Given the description of an element on the screen output the (x, y) to click on. 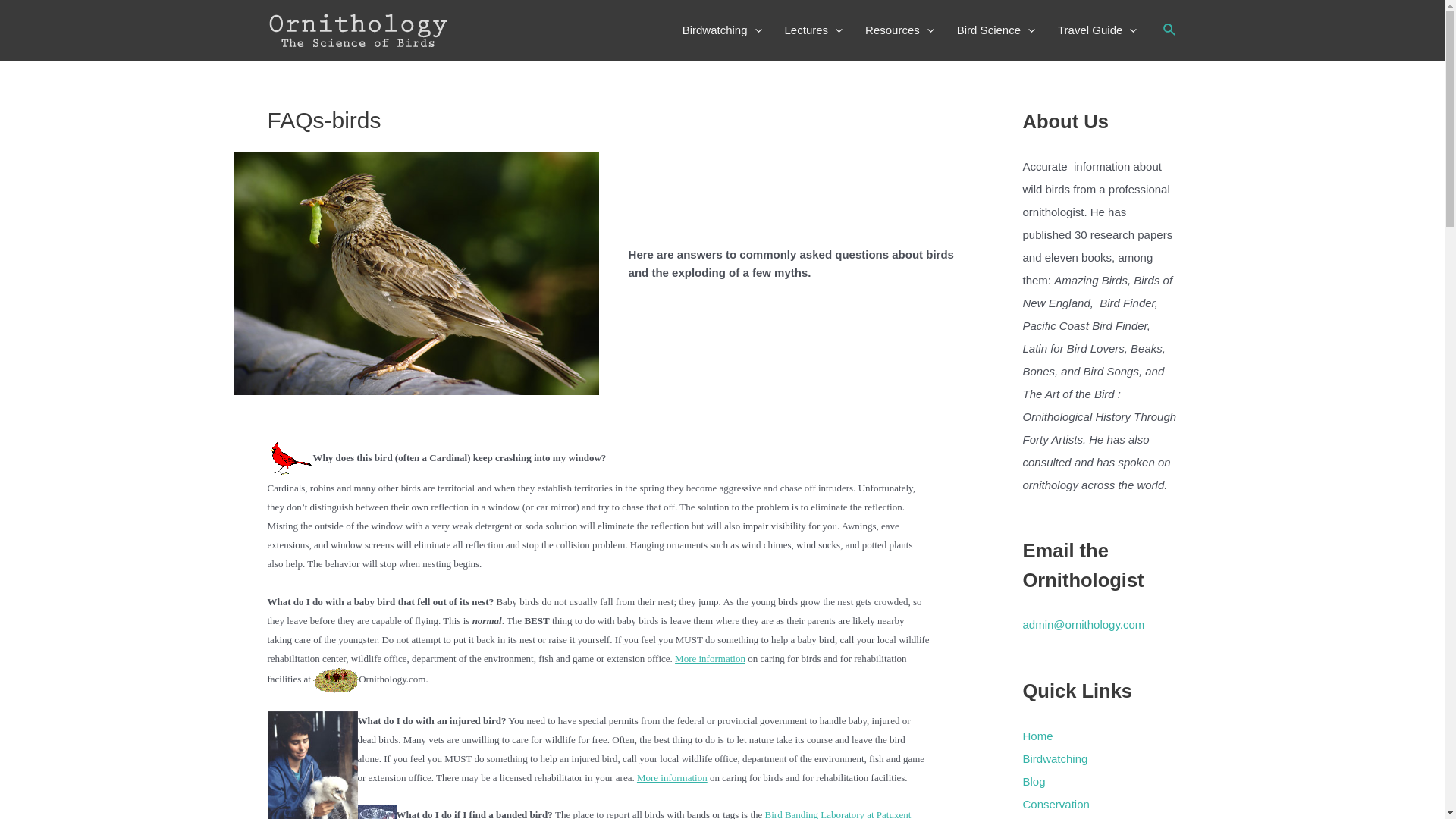
Resources (898, 30)
Lectures (813, 30)
Birdwatching (722, 30)
